Given the description of an element on the screen output the (x, y) to click on. 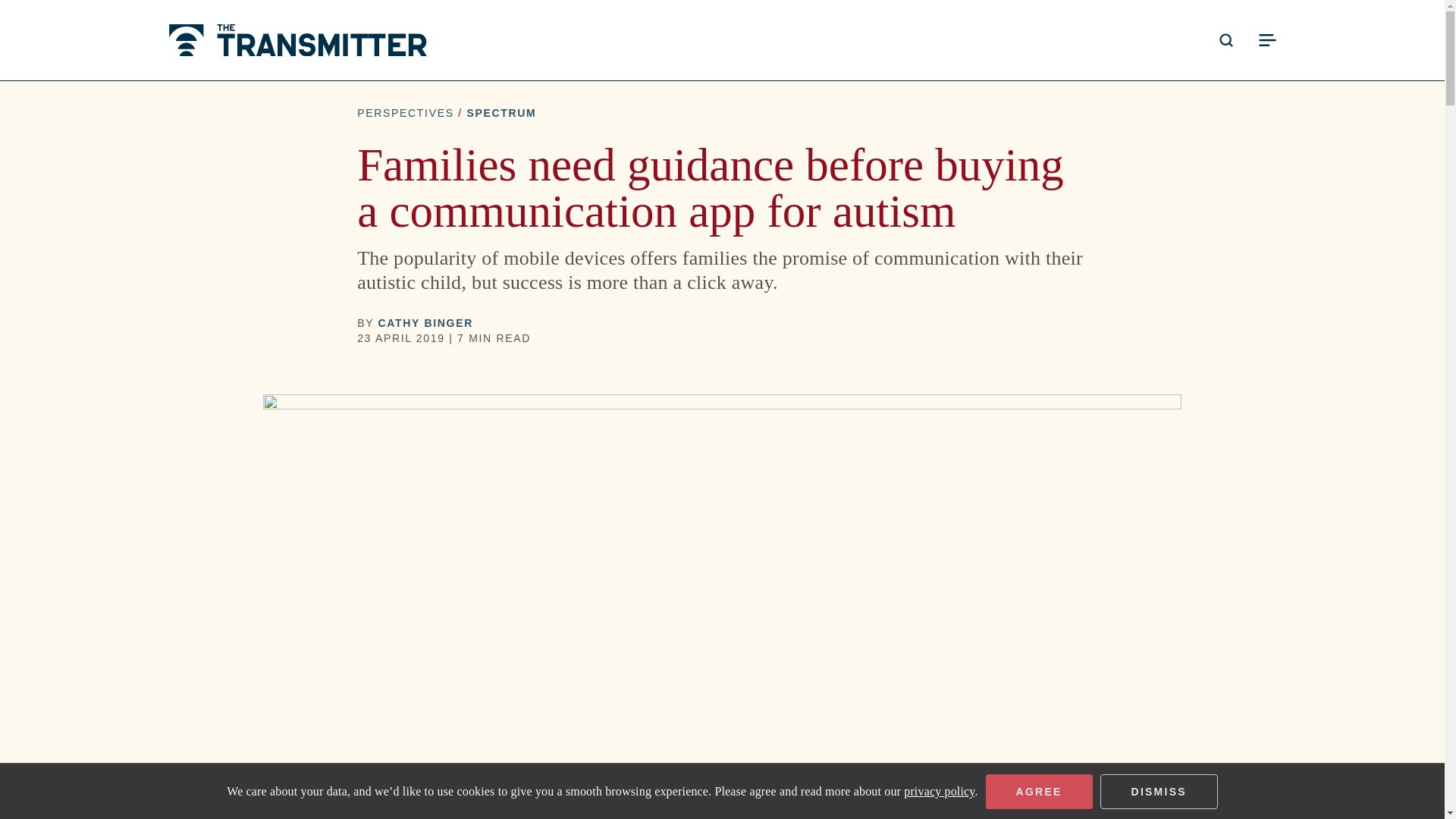
Open menu (1266, 40)
The Transmitter (297, 40)
Open search form (1225, 39)
